Given the description of an element on the screen output the (x, y) to click on. 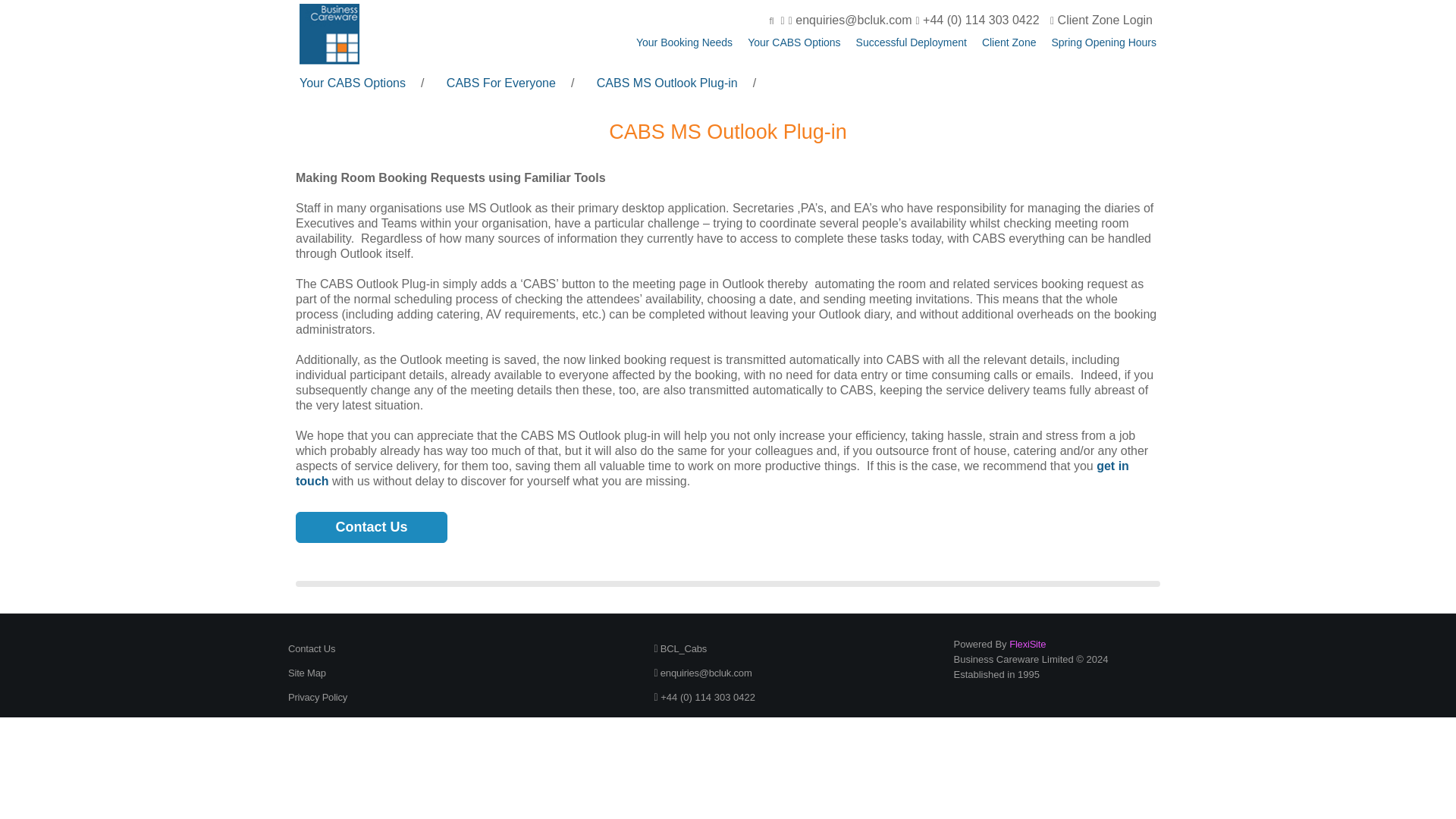
CABS For Everyone (501, 82)
get in touch (712, 473)
Your Booking Needs (684, 42)
Successful Deployment (911, 42)
Privacy Policy (317, 696)
Your CABS Options (794, 42)
Site Map (307, 672)
Client Zone (1008, 42)
Contact Us (370, 527)
CABS MS Outlook Plug-in (667, 82)
